Given the description of an element on the screen output the (x, y) to click on. 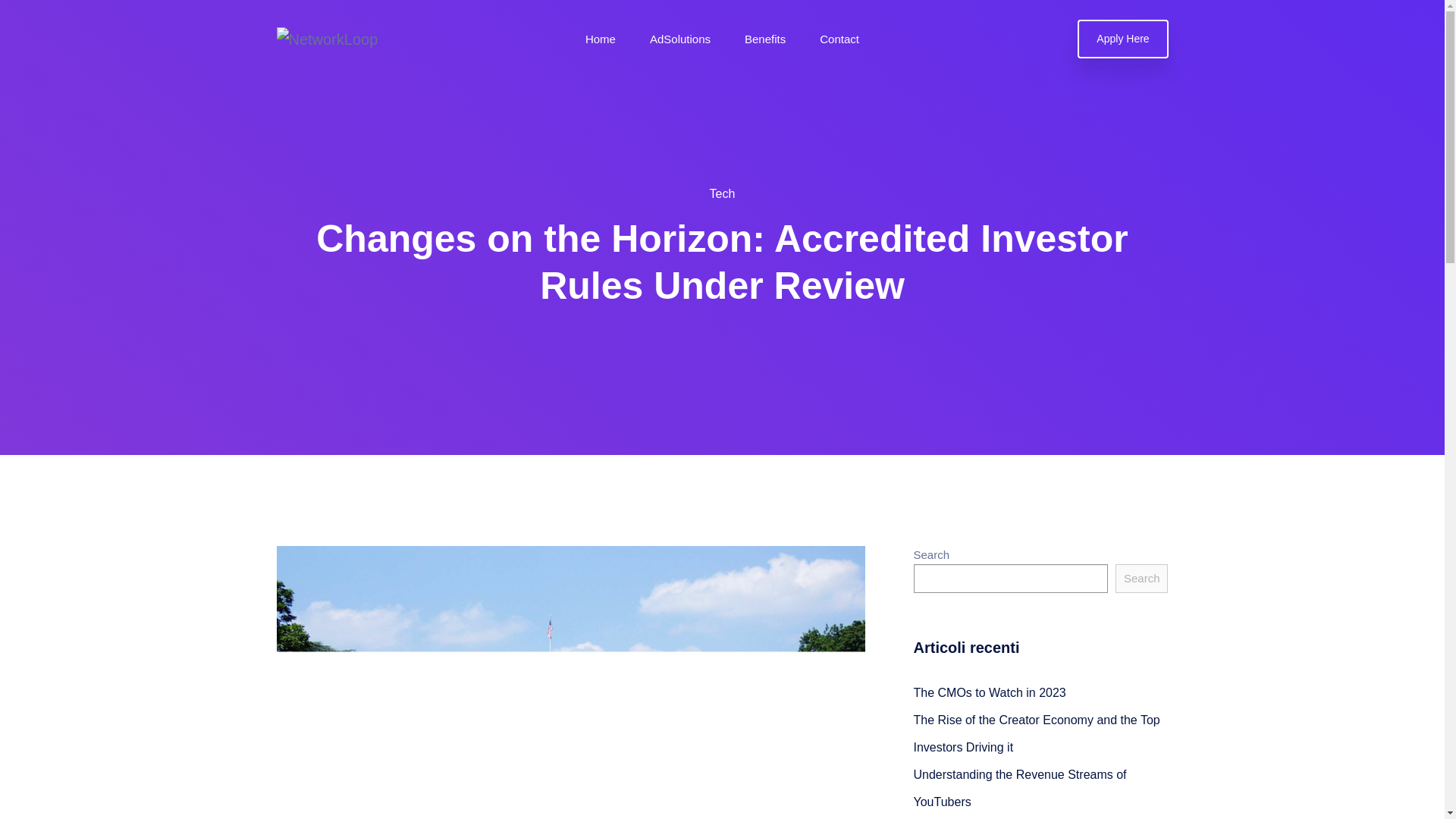
Tech (722, 193)
Benefits (765, 38)
Apply Here (1122, 38)
The CMOs to Watch in 2023 (988, 692)
Home (600, 38)
Search (1142, 578)
Contact (839, 38)
Understanding the Revenue Streams of YouTubers (1018, 788)
AdSolutions (679, 38)
